Given the description of an element on the screen output the (x, y) to click on. 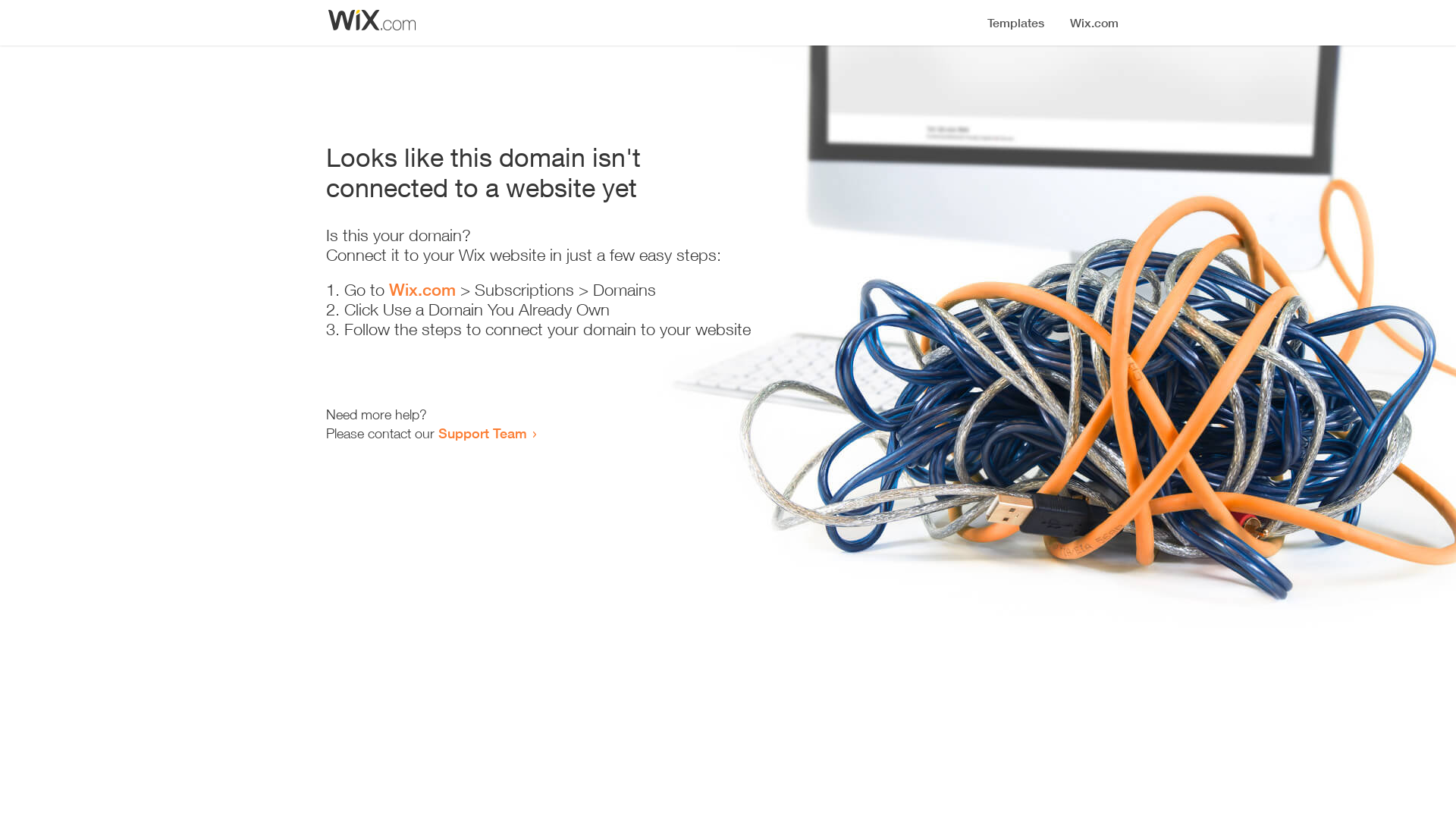
Wix.com Element type: text (422, 289)
Support Team Element type: text (482, 432)
